Given the description of an element on the screen output the (x, y) to click on. 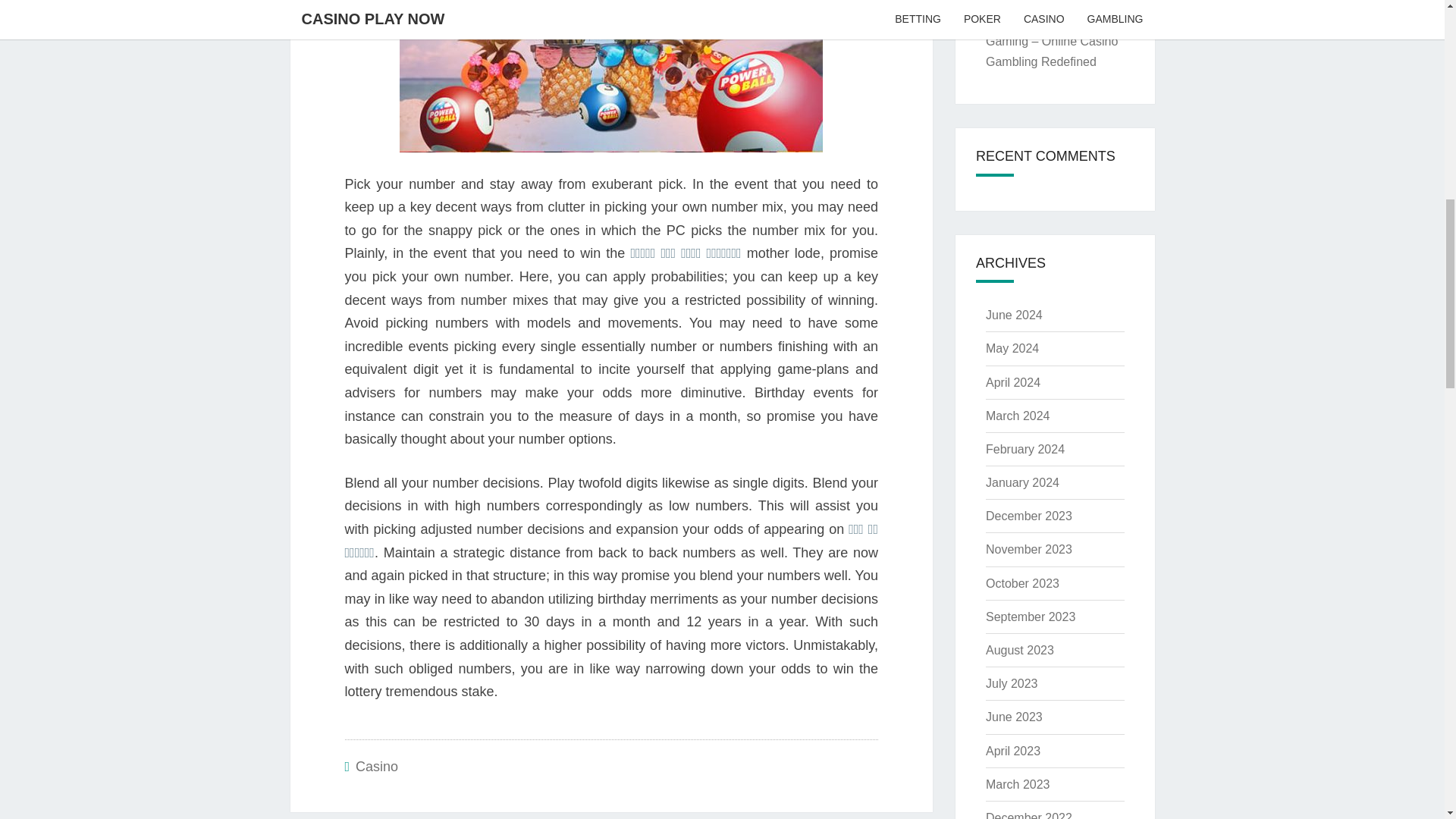
Casino (376, 766)
August 2023 (1019, 649)
May 2024 (1012, 348)
June 2024 (1013, 314)
September 2023 (1030, 616)
January 2024 (1022, 481)
December 2023 (1028, 515)
April 2023 (1013, 750)
July 2023 (1011, 683)
March 2023 (1017, 784)
November 2023 (1028, 549)
April 2024 (1013, 382)
February 2024 (1024, 449)
October 2023 (1022, 583)
December 2022 (1028, 815)
